Given the description of an element on the screen output the (x, y) to click on. 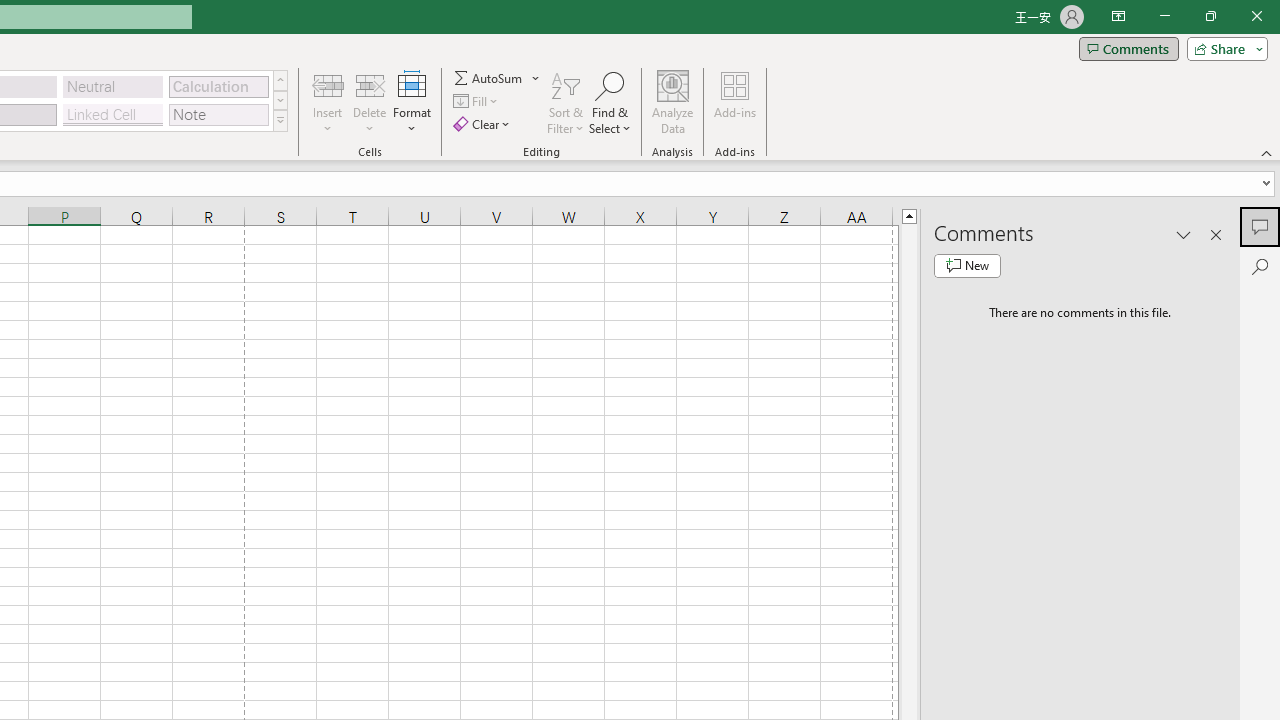
Format (411, 102)
Calculation (218, 86)
Neutral (113, 86)
Delete Cells... (369, 84)
